Given the description of an element on the screen output the (x, y) to click on. 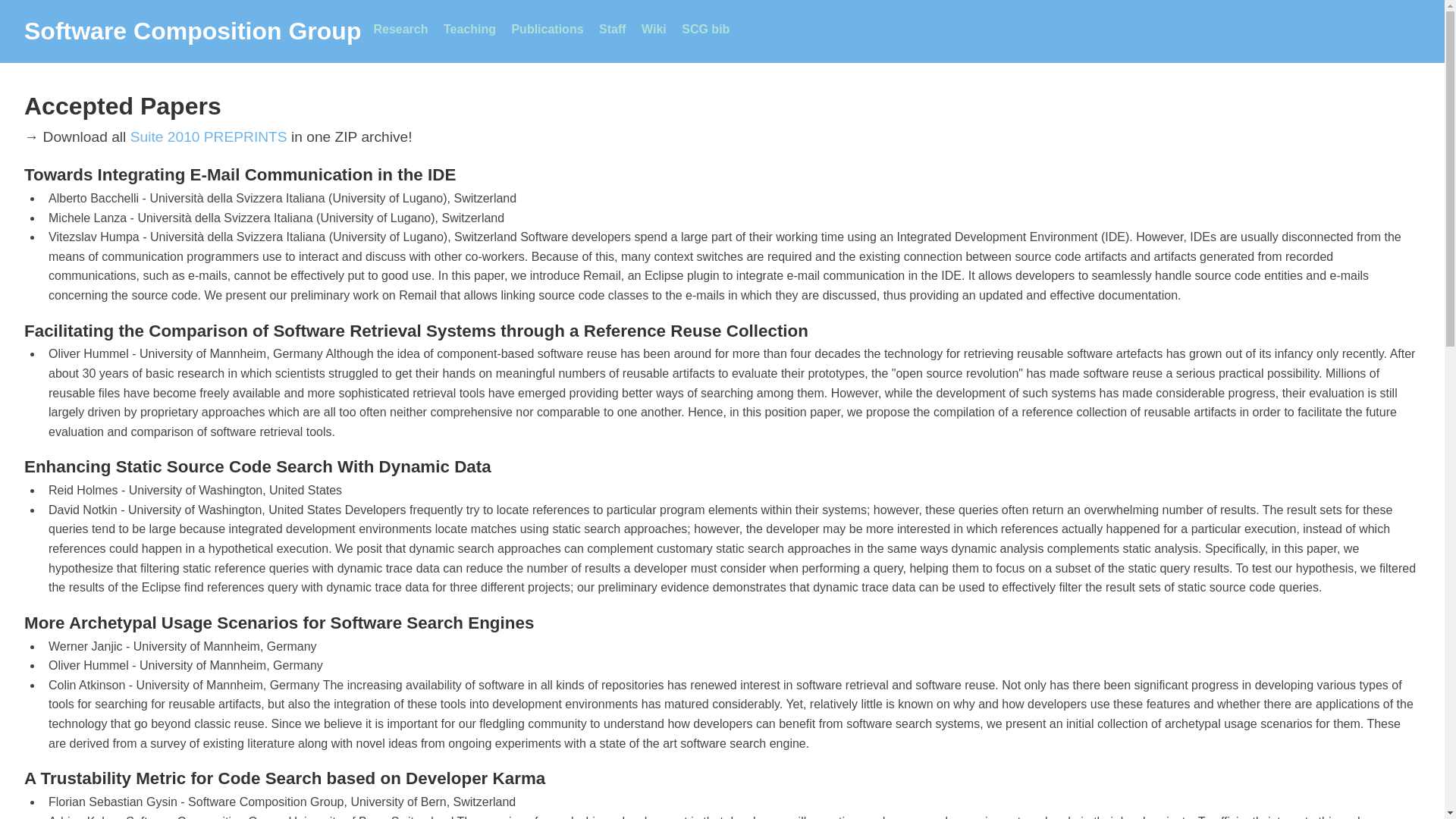
Teaching (470, 29)
Suite 2010 PREPRINTS (208, 136)
Publications (547, 29)
SCG bib (705, 29)
Software Composition Group (192, 31)
Staff (612, 29)
Wiki (654, 29)
Research (400, 29)
